Given the description of an element on the screen output the (x, y) to click on. 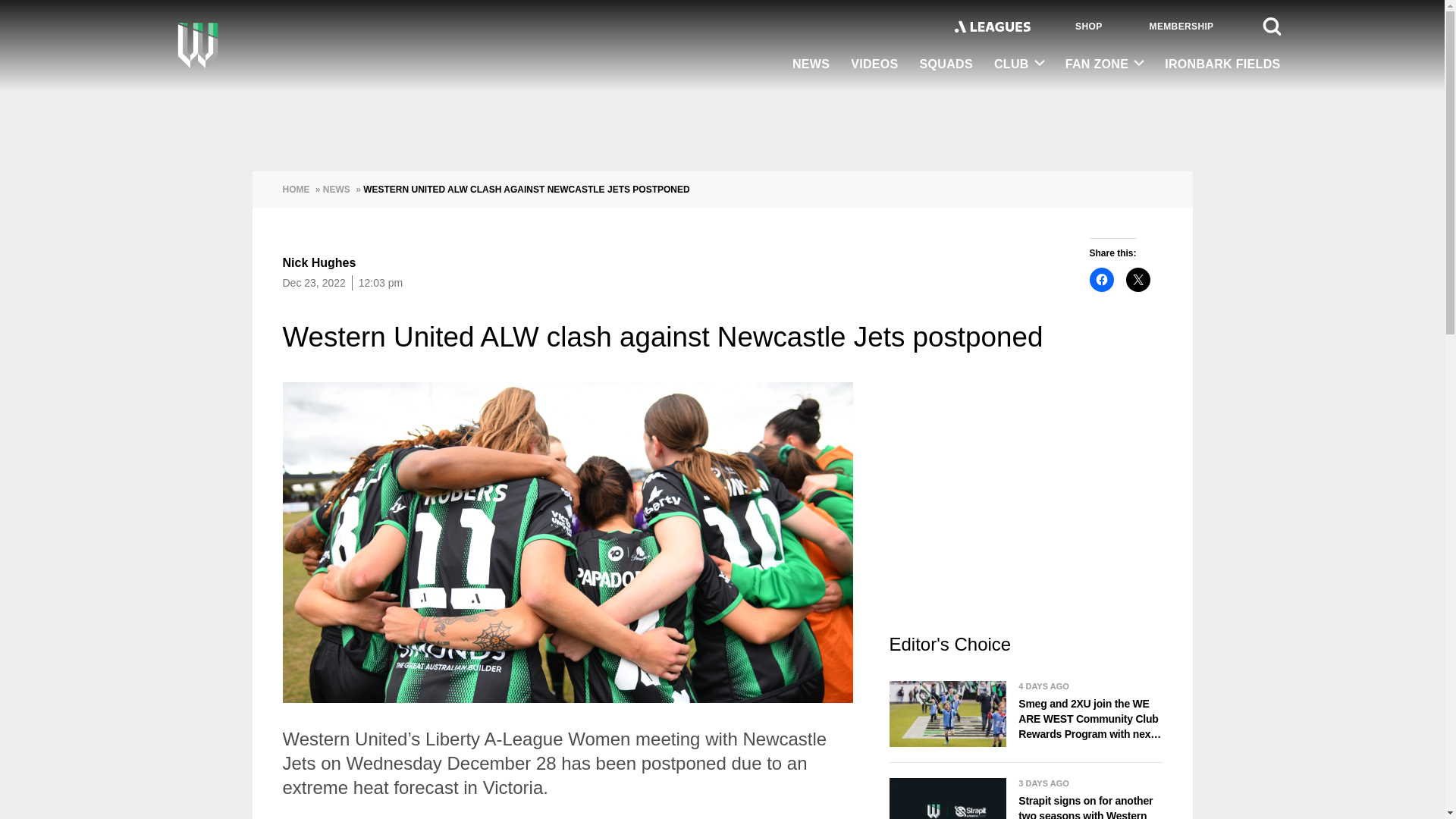
Click to share on X (1137, 279)
FAN ZONE (1104, 64)
Click to share on Facebook (1101, 279)
CLUB (1019, 64)
VIDEOS (874, 65)
NEWS (810, 65)
IRONBARK FIELDS (1216, 65)
SQUADS (946, 65)
